Given the description of an element on the screen output the (x, y) to click on. 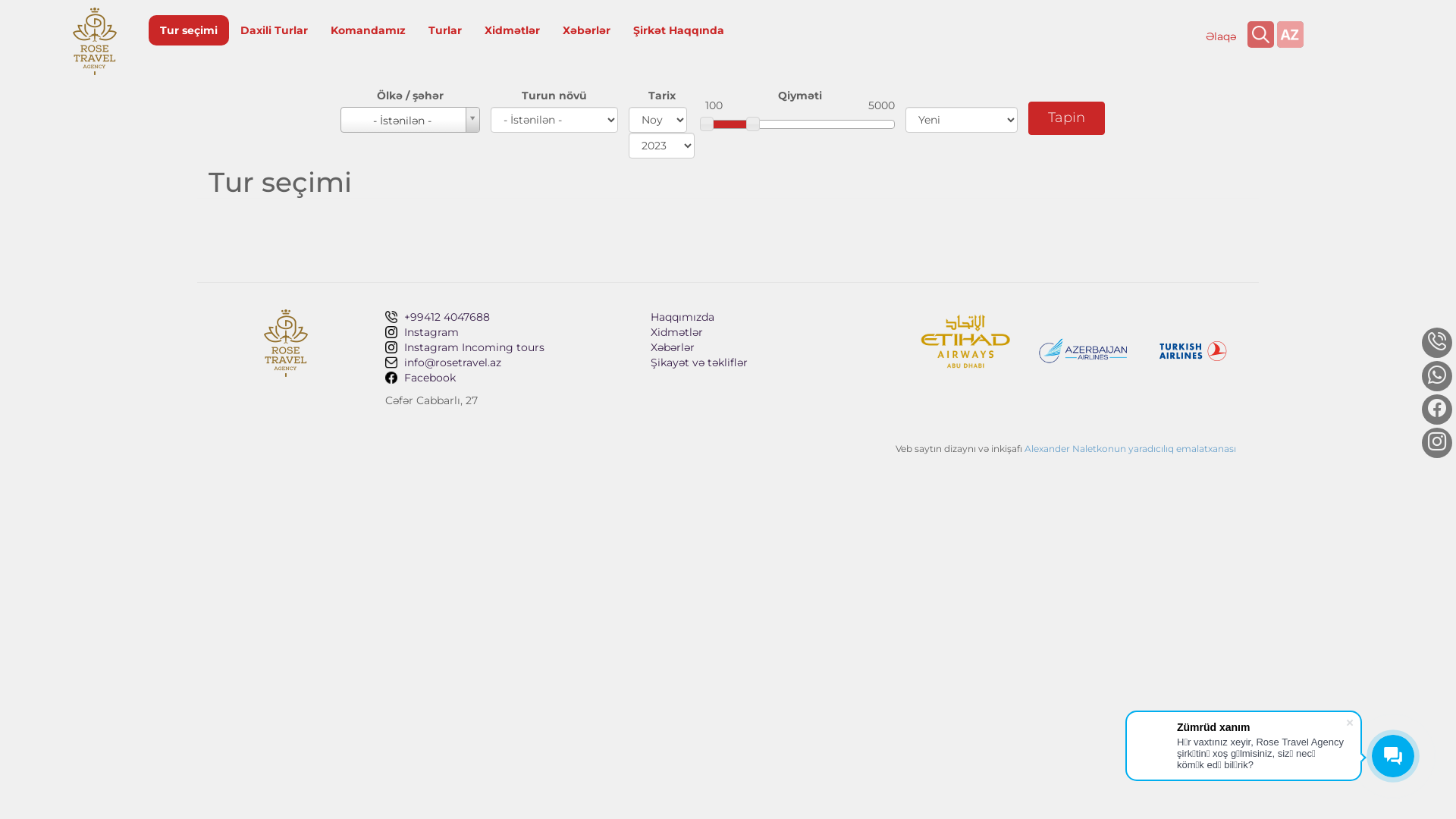
Instagram Incoming tours Element type: text (506, 346)
Turlar Element type: text (445, 30)
+99412 4047688 Element type: text (1238, 127)
Search Element type: text (1260, 34)
+99412 4047688 Element type: text (506, 316)
Tapin Element type: text (1066, 117)
Skip to main content Element type: text (0, 0)
Instagram Element type: text (506, 331)
info@rosetravel.az Element type: text (506, 362)
Facebook Element type: text (506, 377)
Daxili Turlar Element type: text (274, 30)
